Given the description of an element on the screen output the (x, y) to click on. 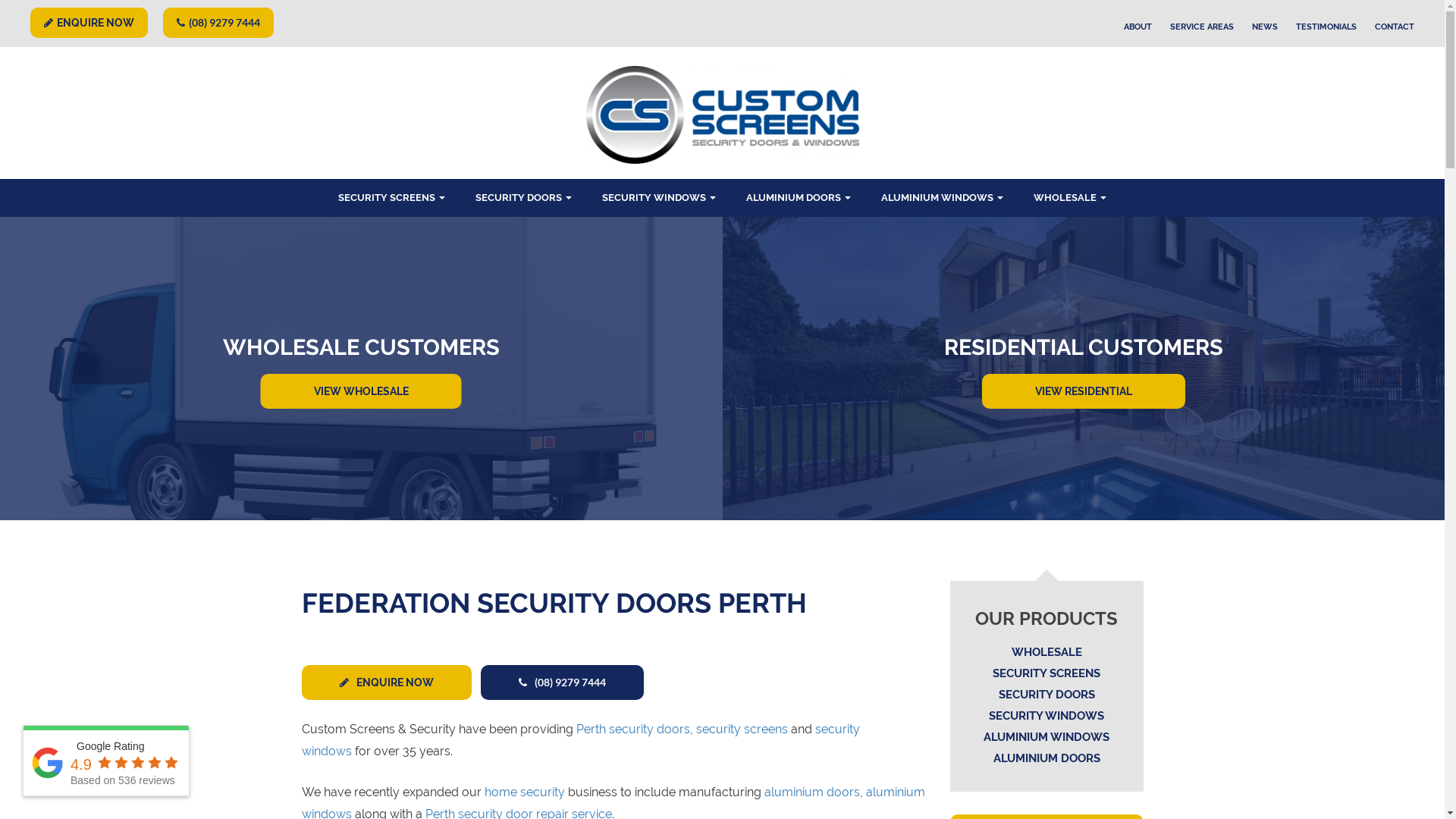
Google Rating
4.9
Based on 536 reviews Element type: text (105, 760)
SERVICE AREAS Element type: text (1201, 27)
SECURITY DOORS Element type: text (1045, 694)
ENQUIRE NOW Element type: text (88, 22)
ALUMINIUM DOORS Element type: text (798, 197)
SECURITY SCREENS Element type: text (1046, 673)
VIEW RESIDENTIAL Element type: text (1083, 390)
VIEW WHOLESALE Element type: text (360, 390)
ALUMINIUM DOORS Element type: text (1046, 758)
(08) 9279 7444 Element type: text (218, 22)
security windows Element type: text (580, 739)
ALUMINIUM WINDOWS Element type: text (942, 197)
SECURITY WINDOWS Element type: text (1046, 715)
Perth security doors Element type: text (633, 728)
security screens Element type: text (741, 728)
SECURITY WINDOWS Element type: text (658, 197)
WHOLESALE Element type: text (1069, 197)
home security Element type: text (523, 791)
NEWS Element type: text (1264, 27)
(08) 9279 7444 Element type: text (561, 682)
WHOLESALE Element type: text (1046, 651)
CONTACT Element type: text (1394, 27)
TESTIMONIALS Element type: text (1326, 27)
SECURITY DOORS Element type: text (523, 197)
ALUMINIUM WINDOWS Element type: text (1046, 736)
aluminium doors Element type: text (811, 791)
SECURITY SCREENS Element type: text (391, 197)
ENQUIRE NOW Element type: text (386, 682)
Custom Screens & Security Element type: text (76, 10)
ABOUT Element type: text (1137, 27)
